Given the description of an element on the screen output the (x, y) to click on. 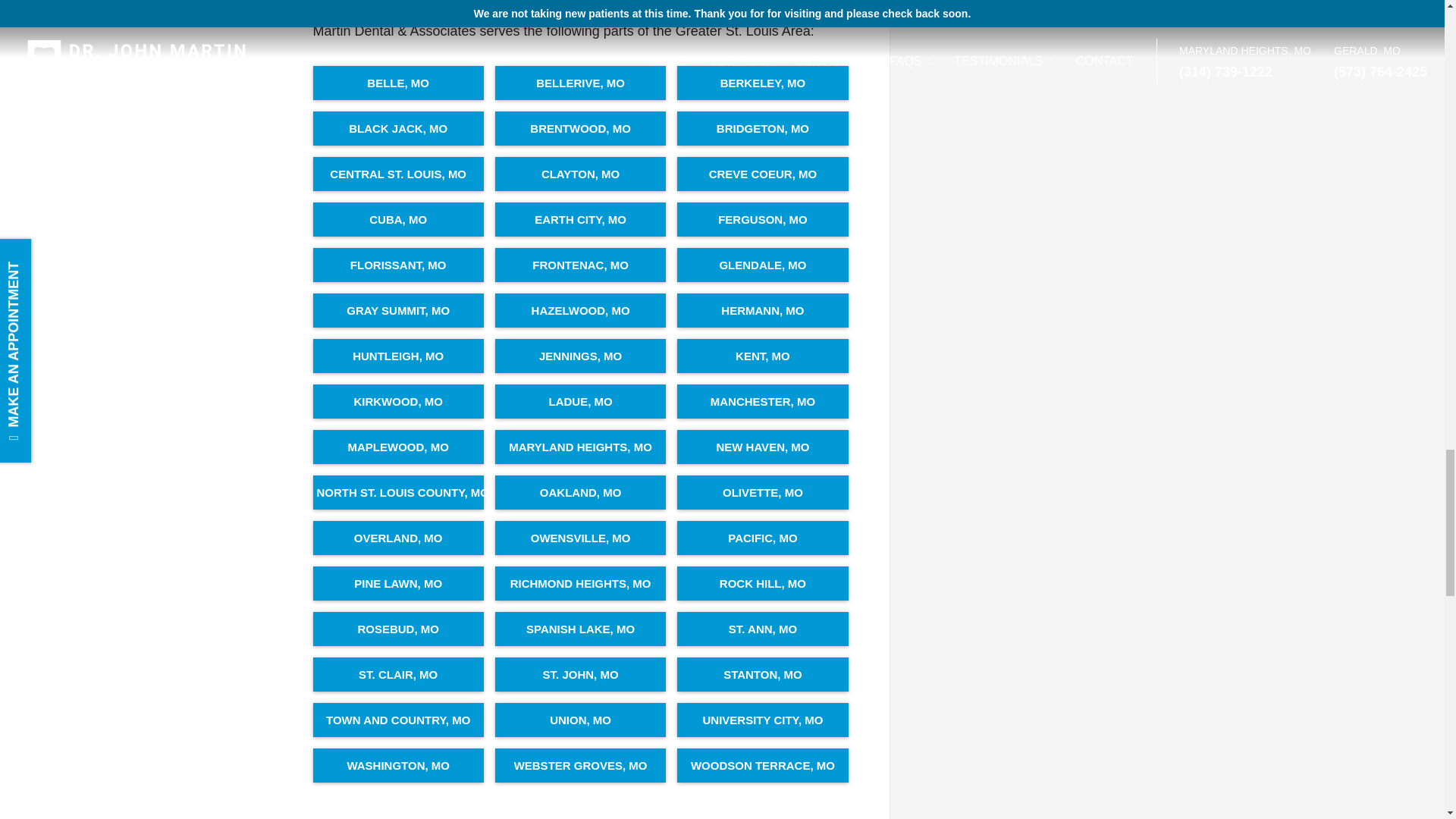
CLAYTON, MO (580, 173)
BRENTWOOD, MO (580, 128)
BELLE, MO (398, 82)
BELLERIVE, MO (580, 82)
BERKELEY, MO (762, 82)
CUBA, MO (398, 219)
BLACK JACK, MO (398, 128)
EARTH CITY, MO (580, 219)
CENTRAL ST. LOUIS, MO (398, 173)
FERGUSON, MO (762, 219)
CREVE COEUR, MO (762, 173)
BRIDGETON, MO (762, 128)
